Given the description of an element on the screen output the (x, y) to click on. 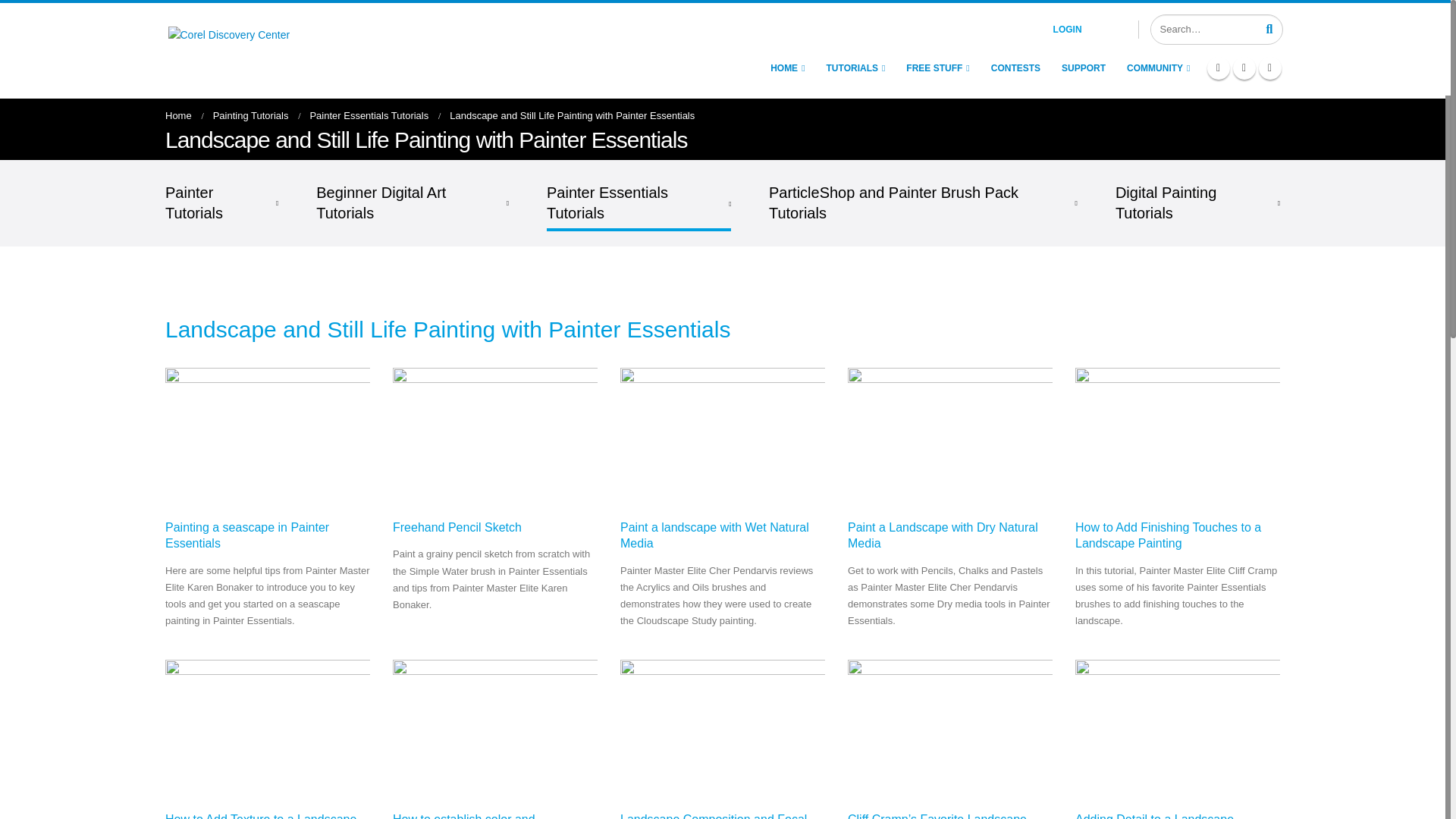
CONTESTS (1015, 68)
SUPPORT (1083, 68)
COMMUNITY (1157, 68)
Corel Discovery Center (263, 49)
TUTORIALS (855, 68)
FREE STUFF (937, 68)
LOGIN (1085, 29)
HOME (786, 68)
Search (1269, 27)
Go to Home Page (178, 115)
